Given the description of an element on the screen output the (x, y) to click on. 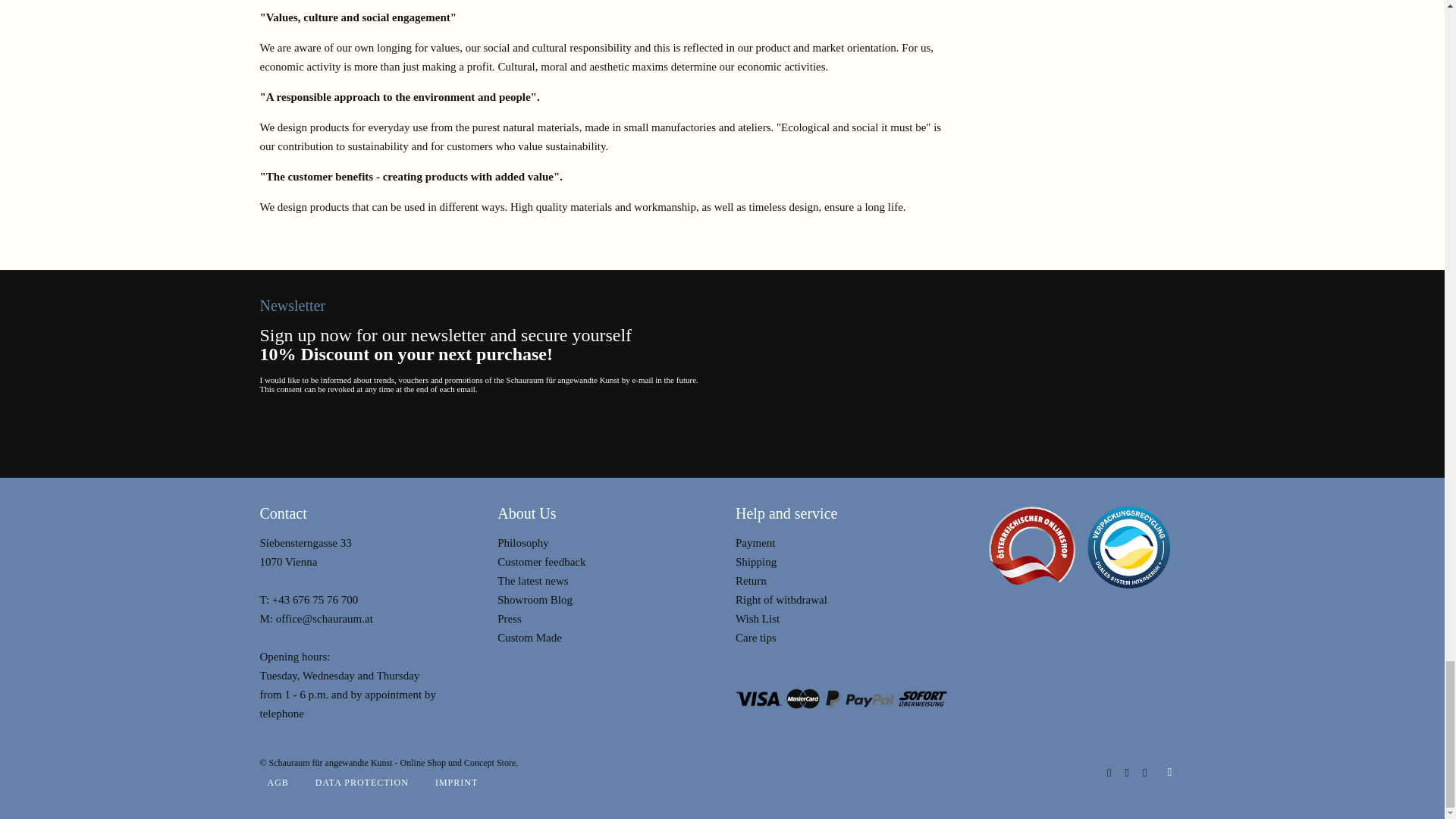
The latest news (532, 580)
To our blog (534, 599)
About Us (522, 542)
Write a mail (324, 618)
Care tips (755, 637)
Wish List (756, 618)
Contact (753, 656)
Return (751, 580)
Custom Made (529, 637)
Customer feedback (541, 562)
